Given the description of an element on the screen output the (x, y) to click on. 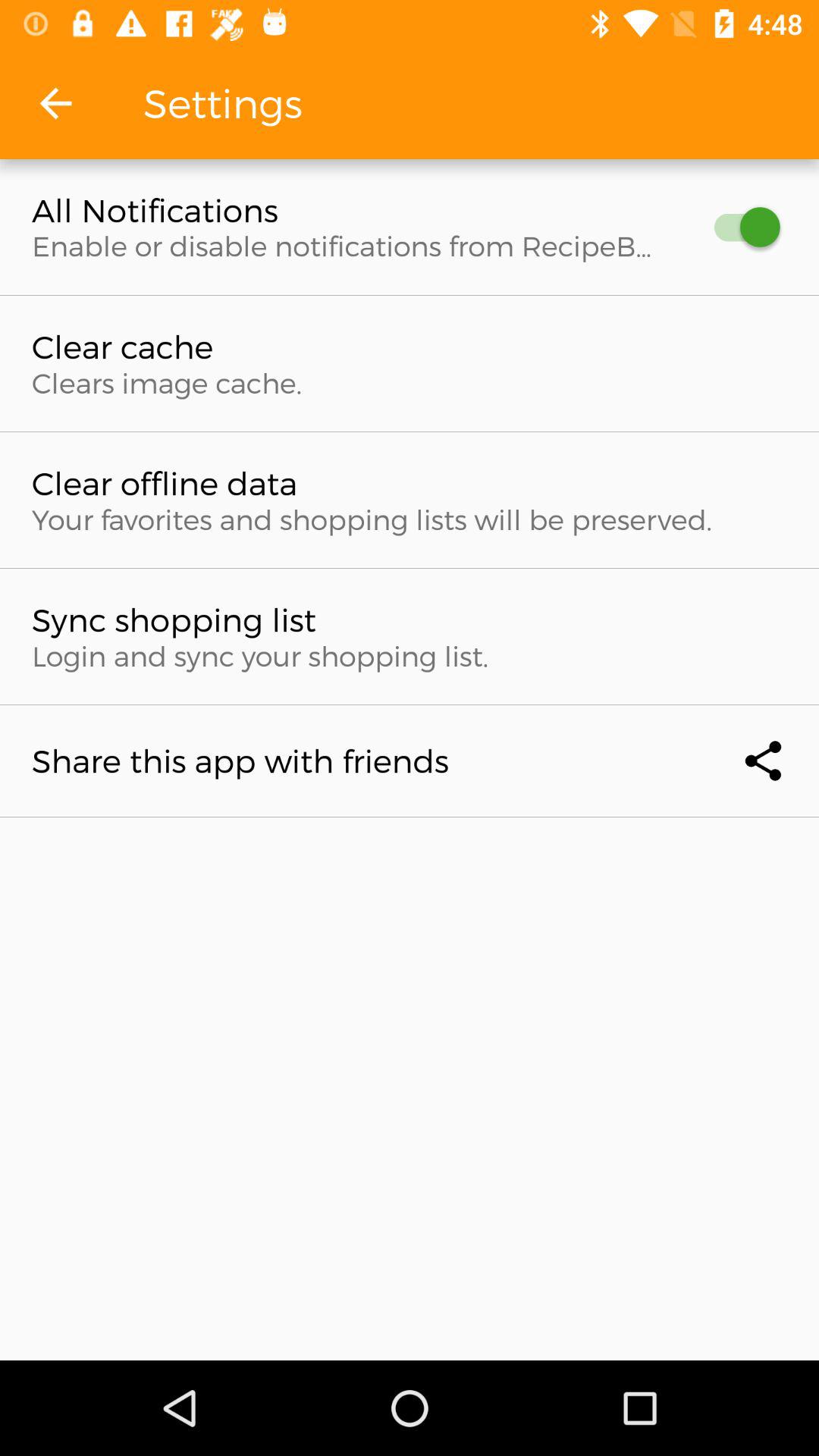
choose item next to the all notifications item (739, 227)
